Given the description of an element on the screen output the (x, y) to click on. 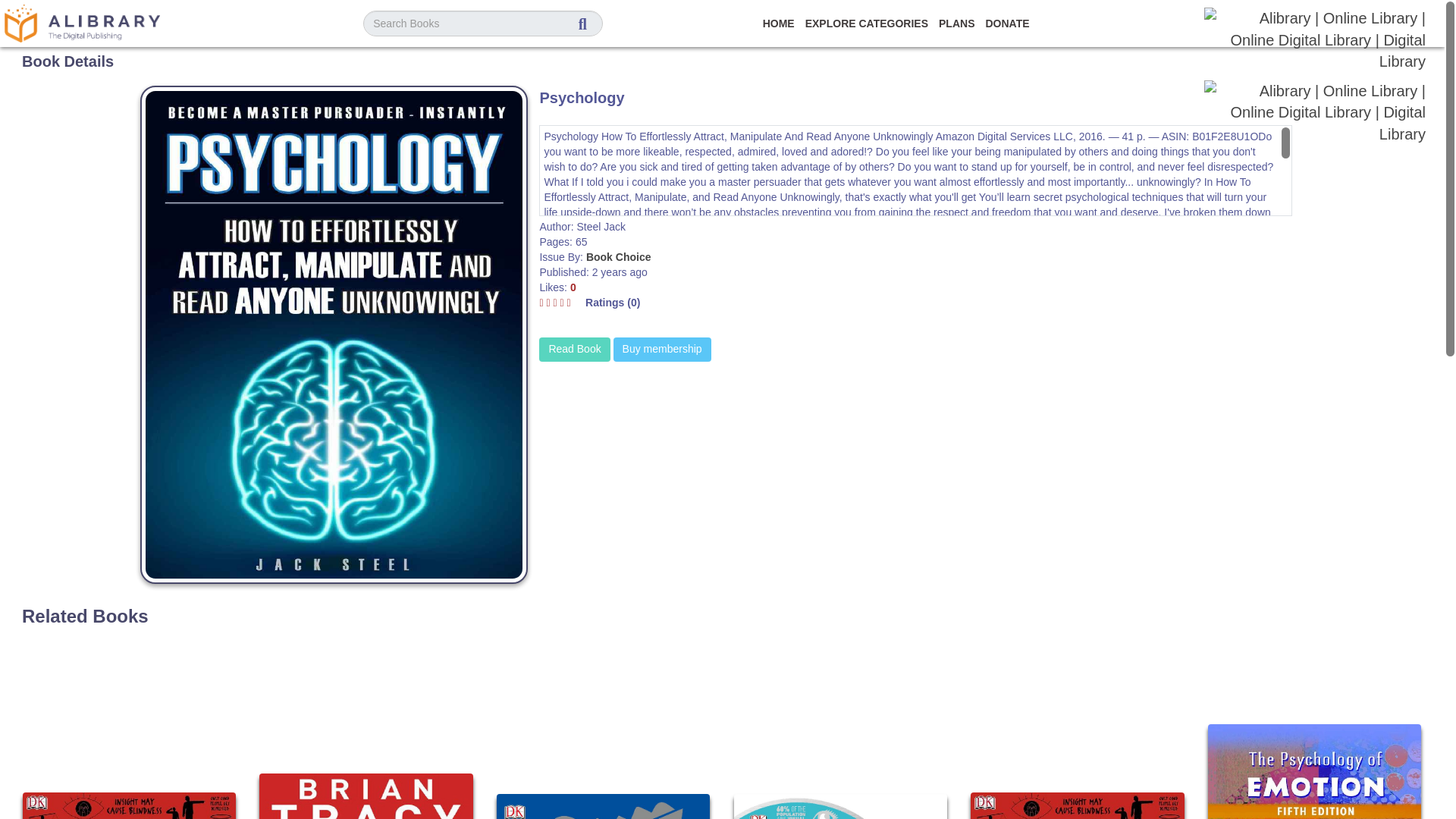
How Psychology Works Applied Psychology Visually Explained (840, 806)
The Psychology of Selling (365, 796)
DONATE (1006, 23)
Success The Psychology of Achievement (603, 806)
Book Choice (618, 256)
PLANS (956, 23)
EXPLORE CATEGORIES (866, 23)
Buy membership (661, 349)
Read Book (574, 349)
HOME (778, 23)
Click here to download app. (1315, 39)
The Psychology Book (129, 805)
Read Book (574, 348)
Buy membership (661, 348)
